Given the description of an element on the screen output the (x, y) to click on. 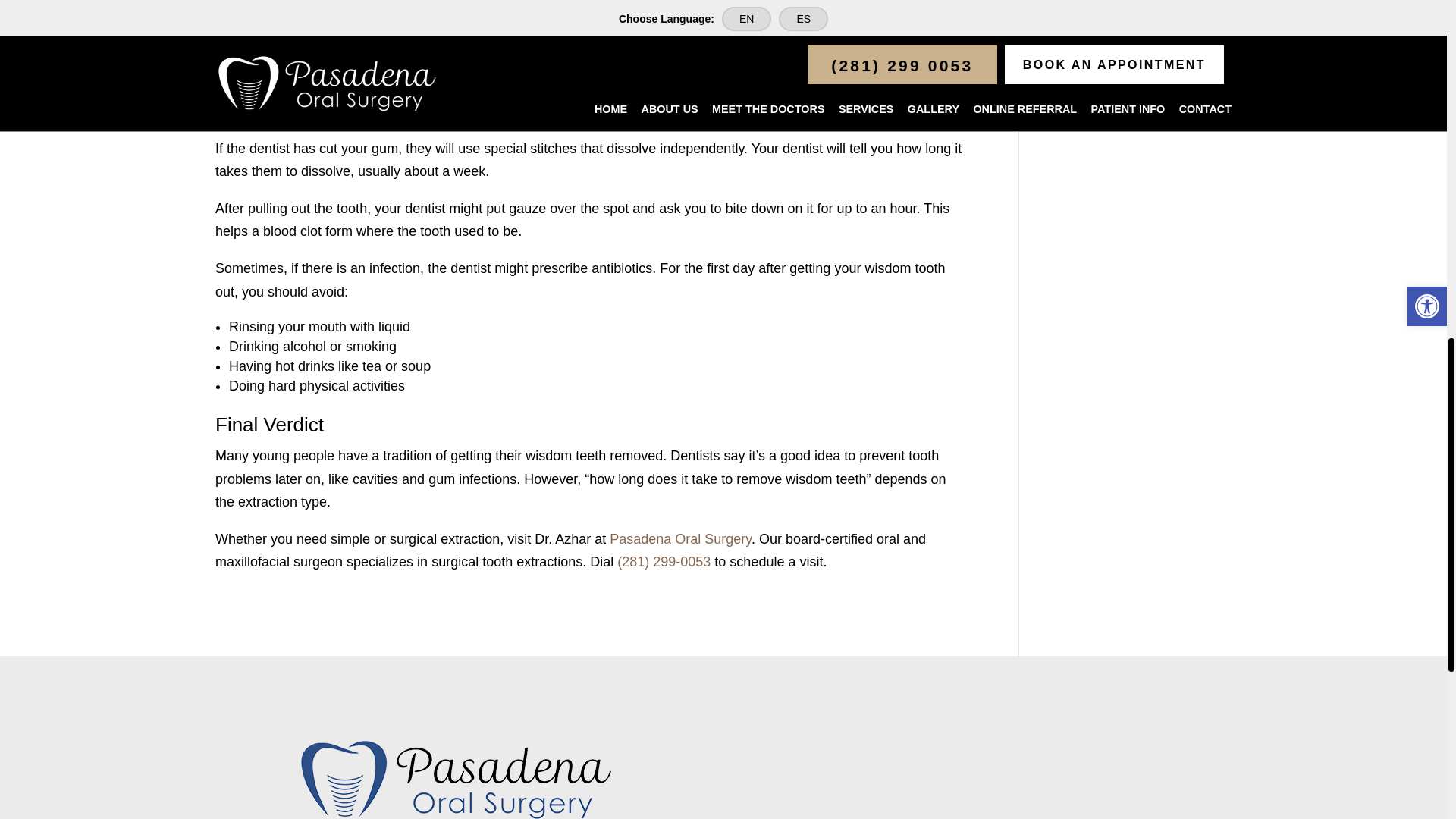
pasadena-oral-logo (455, 776)
